Given the description of an element on the screen output the (x, y) to click on. 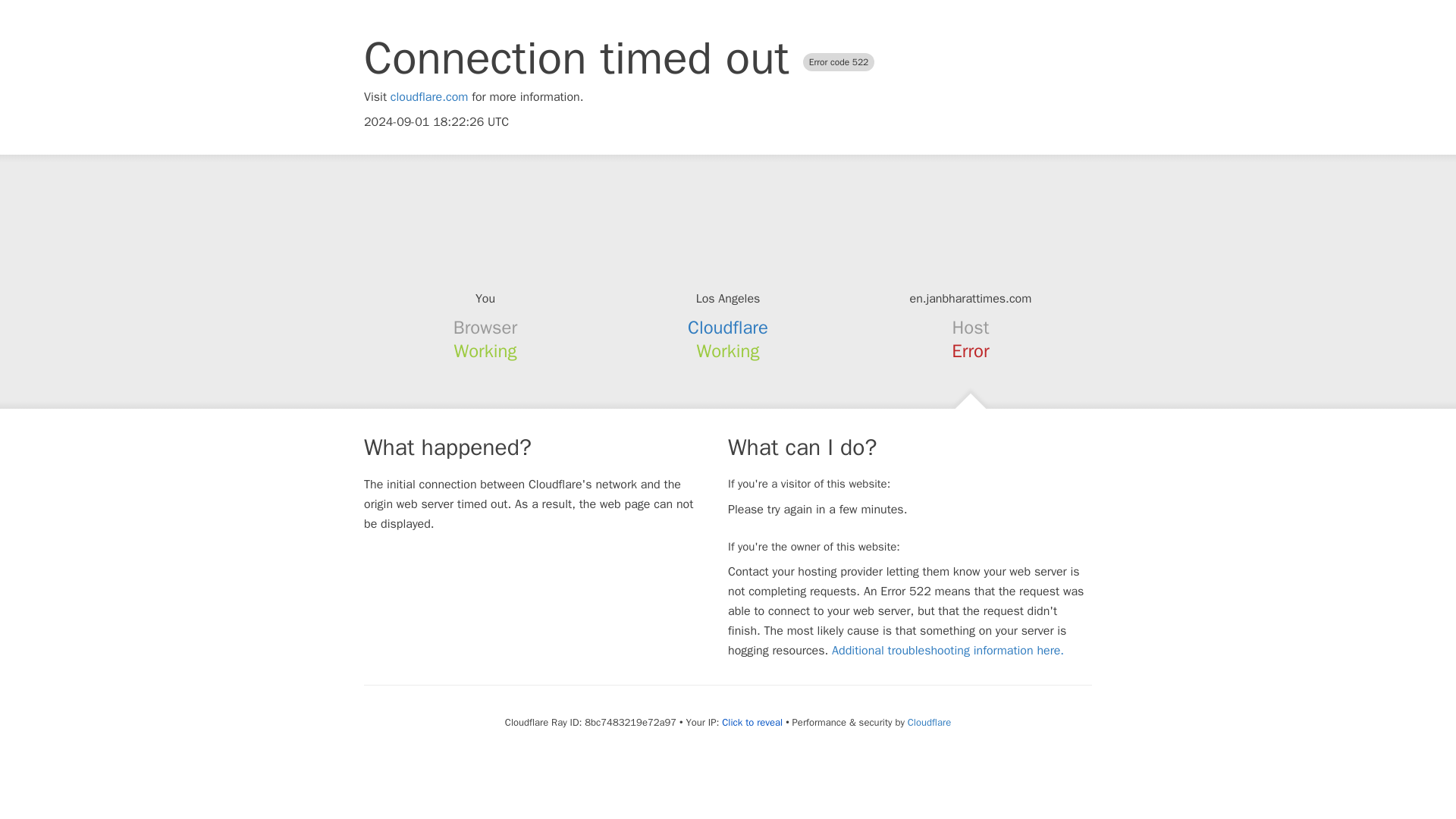
Click to reveal (752, 722)
Cloudflare (928, 721)
Additional troubleshooting information here. (947, 650)
Cloudflare (727, 327)
cloudflare.com (429, 96)
